Given the description of an element on the screen output the (x, y) to click on. 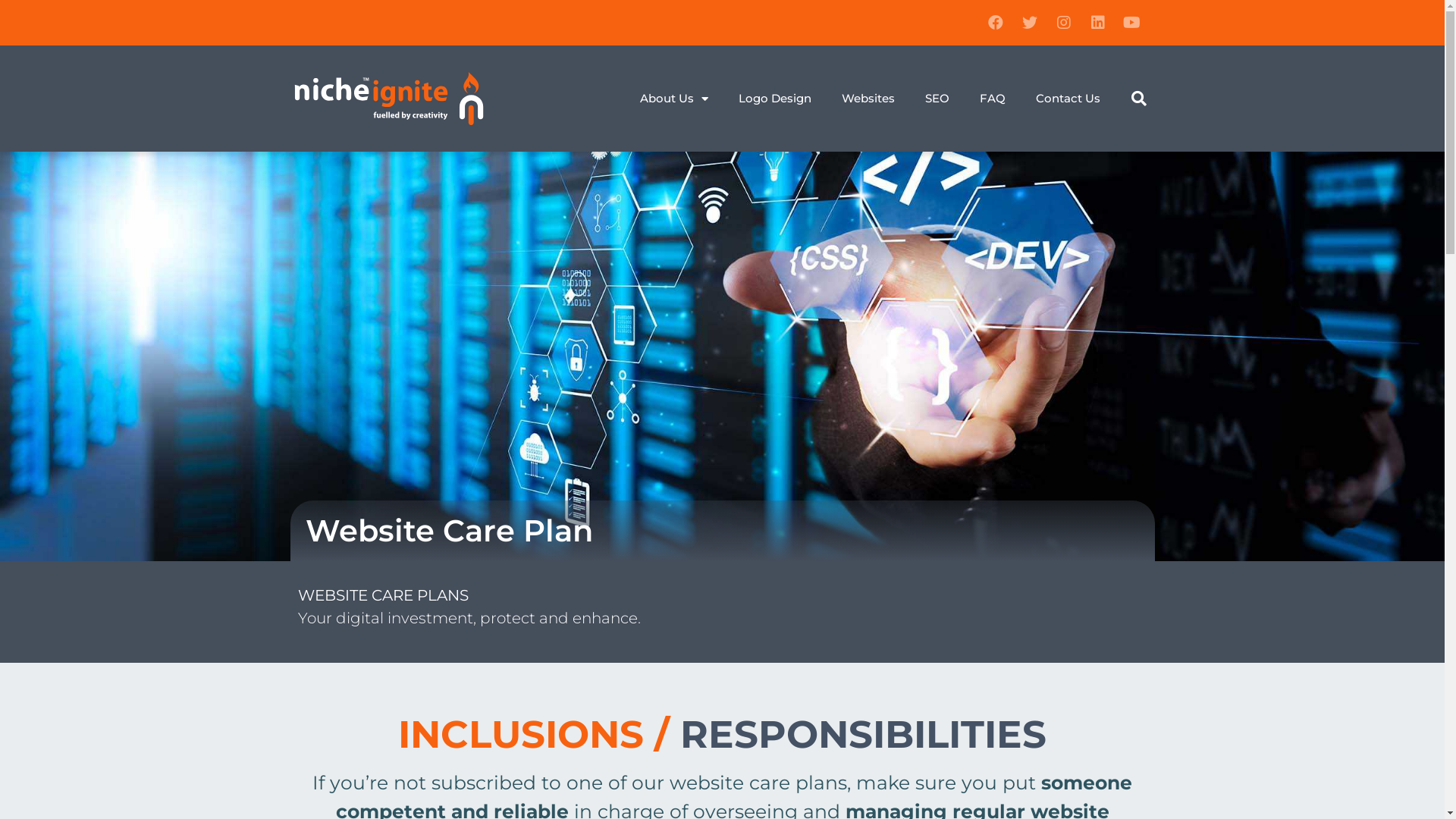
About Us Element type: text (673, 98)
FAQ Element type: text (992, 98)
Websites Element type: text (868, 98)
SEO Element type: text (937, 98)
Logo Design Element type: text (774, 98)
Contact Us Element type: text (1067, 98)
